Given the description of an element on the screen output the (x, y) to click on. 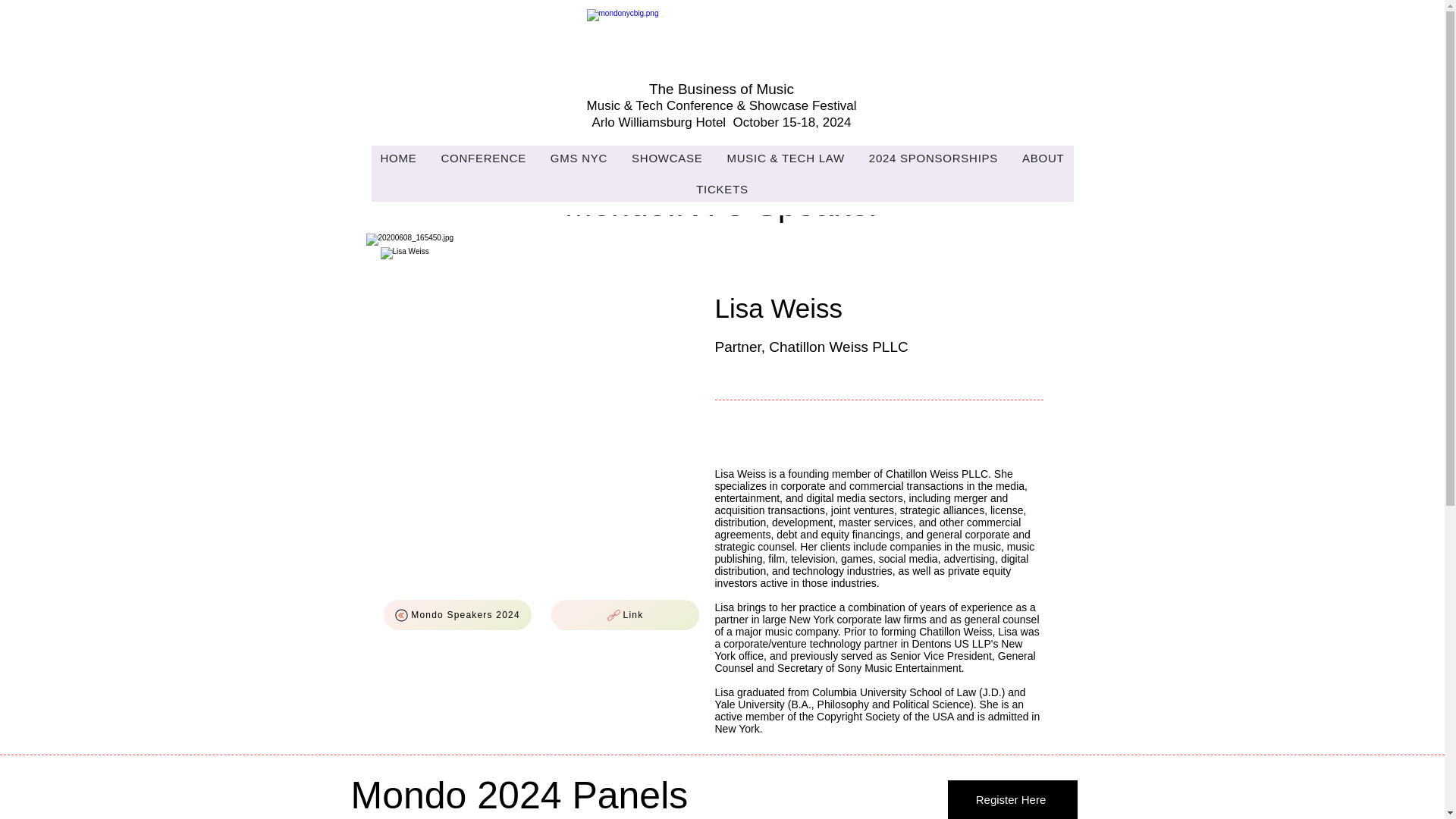
ABOUT (1043, 157)
2024 SPONSORSHIPS (933, 157)
Link (624, 614)
HOME (398, 157)
Lisa Weiss.png (541, 408)
TICKETS (722, 188)
Mondo Speakers 2024 (457, 614)
SHOWCASE (667, 157)
CONFERENCE (482, 157)
